Given the description of an element on the screen output the (x, y) to click on. 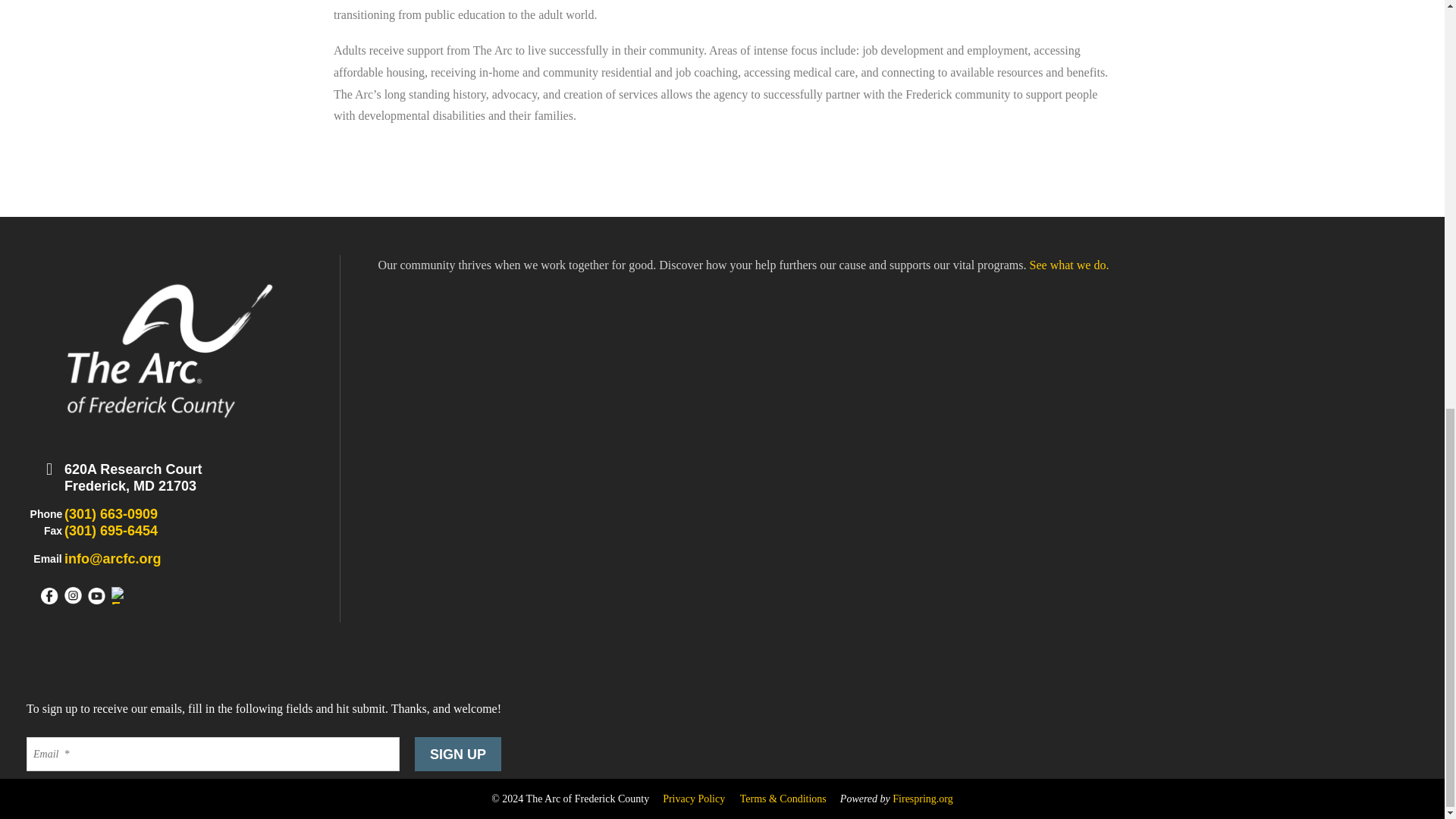
Sign Up (457, 754)
logo (169, 348)
